Given the description of an element on the screen output the (x, y) to click on. 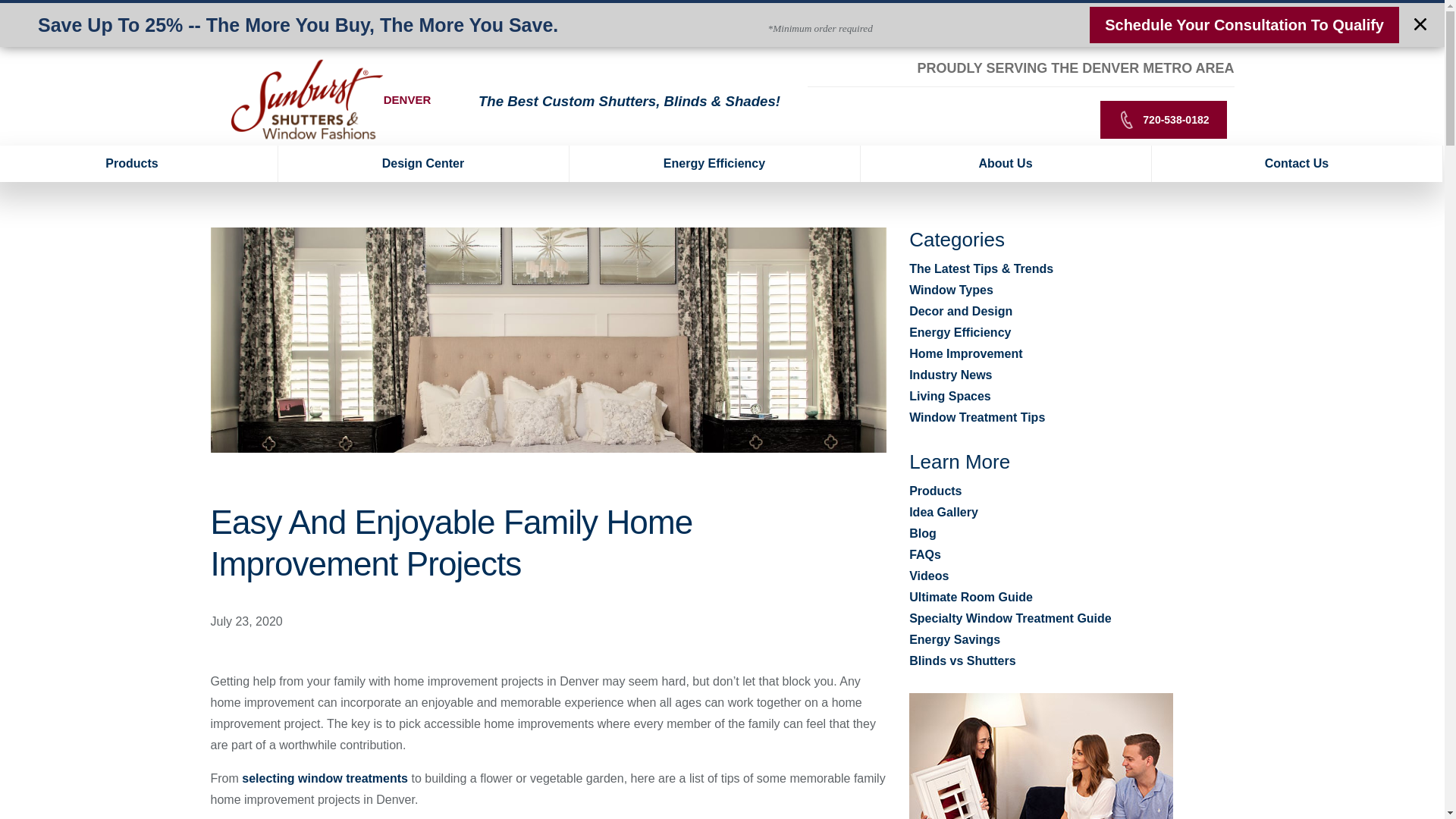
Design Center (423, 163)
720-538-0182 (1162, 119)
Sunburst Shutters Denver Home (307, 99)
Schedule Your Consultation To Qualify (1244, 24)
Products (139, 163)
